Given the description of an element on the screen output the (x, y) to click on. 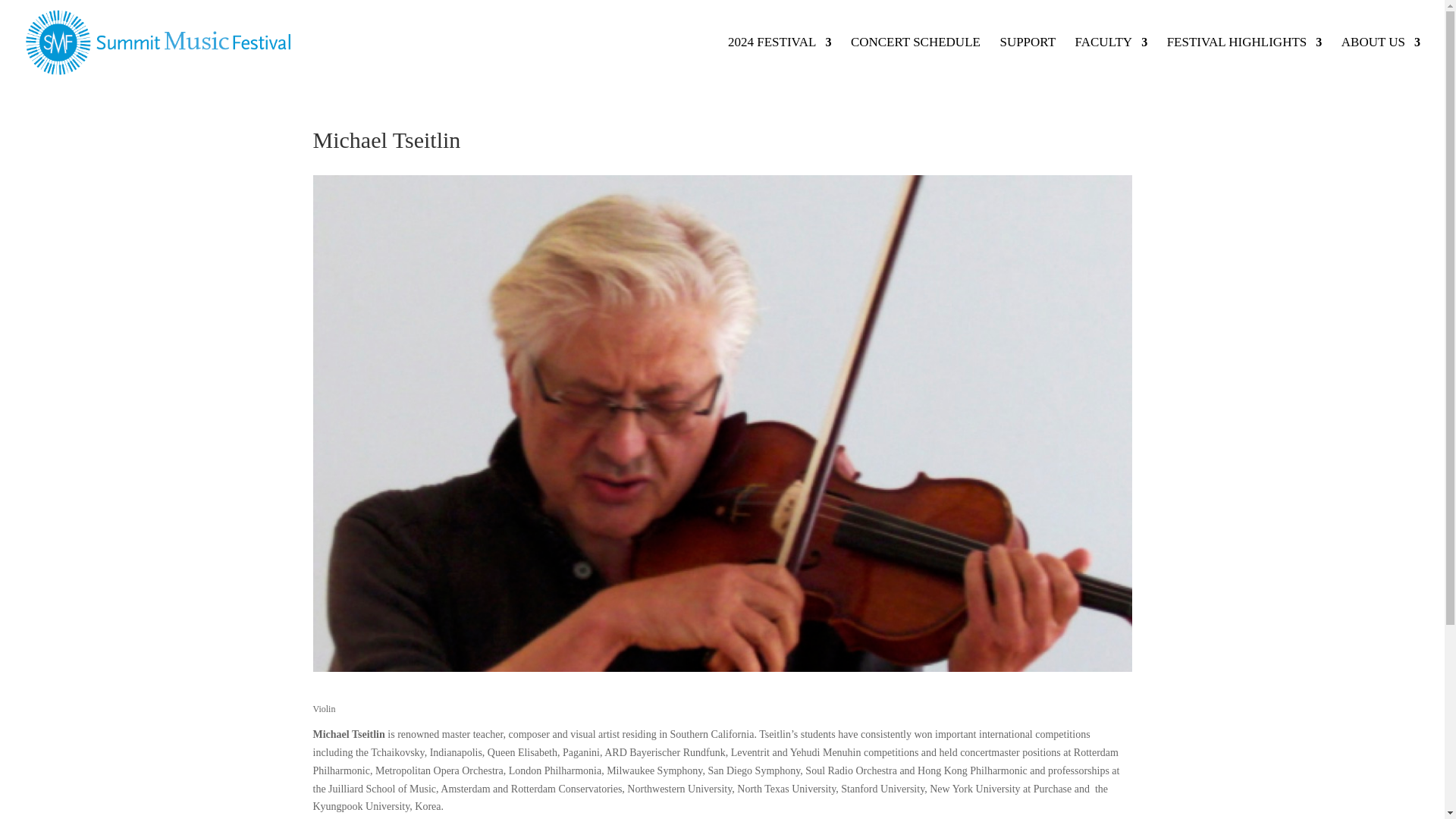
2024 FESTIVAL (779, 60)
FACULTY (1111, 60)
ABOUT US (1380, 60)
FESTIVAL HIGHLIGHTS (1244, 60)
CONCERT SCHEDULE (914, 60)
SUPPORT (1026, 60)
